Given the description of an element on the screen output the (x, y) to click on. 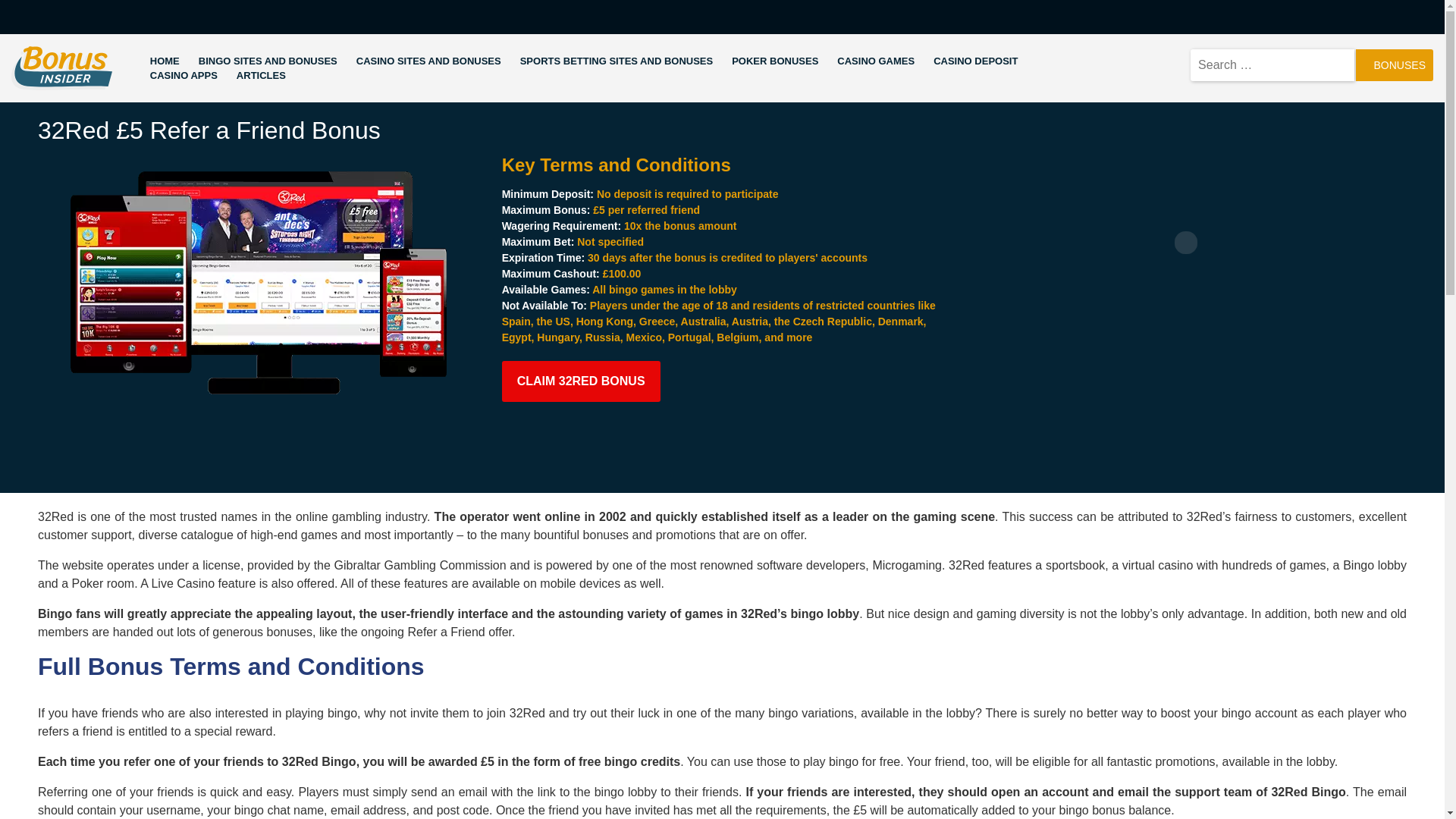
CASINO DEPOSIT (975, 60)
SPORTS BETTING SITES AND BONUSES (616, 60)
Bonuses (1393, 65)
Bonus Insider (48, 98)
Bonuses (1393, 65)
CASINO SITES AND BONUSES (428, 60)
CASINO APPS (182, 75)
POKER BONUSES (775, 60)
CASINO GAMES (875, 60)
BINGO SITES AND BONUSES (267, 60)
Bonuses (1393, 65)
HOME (164, 60)
